Given the description of an element on the screen output the (x, y) to click on. 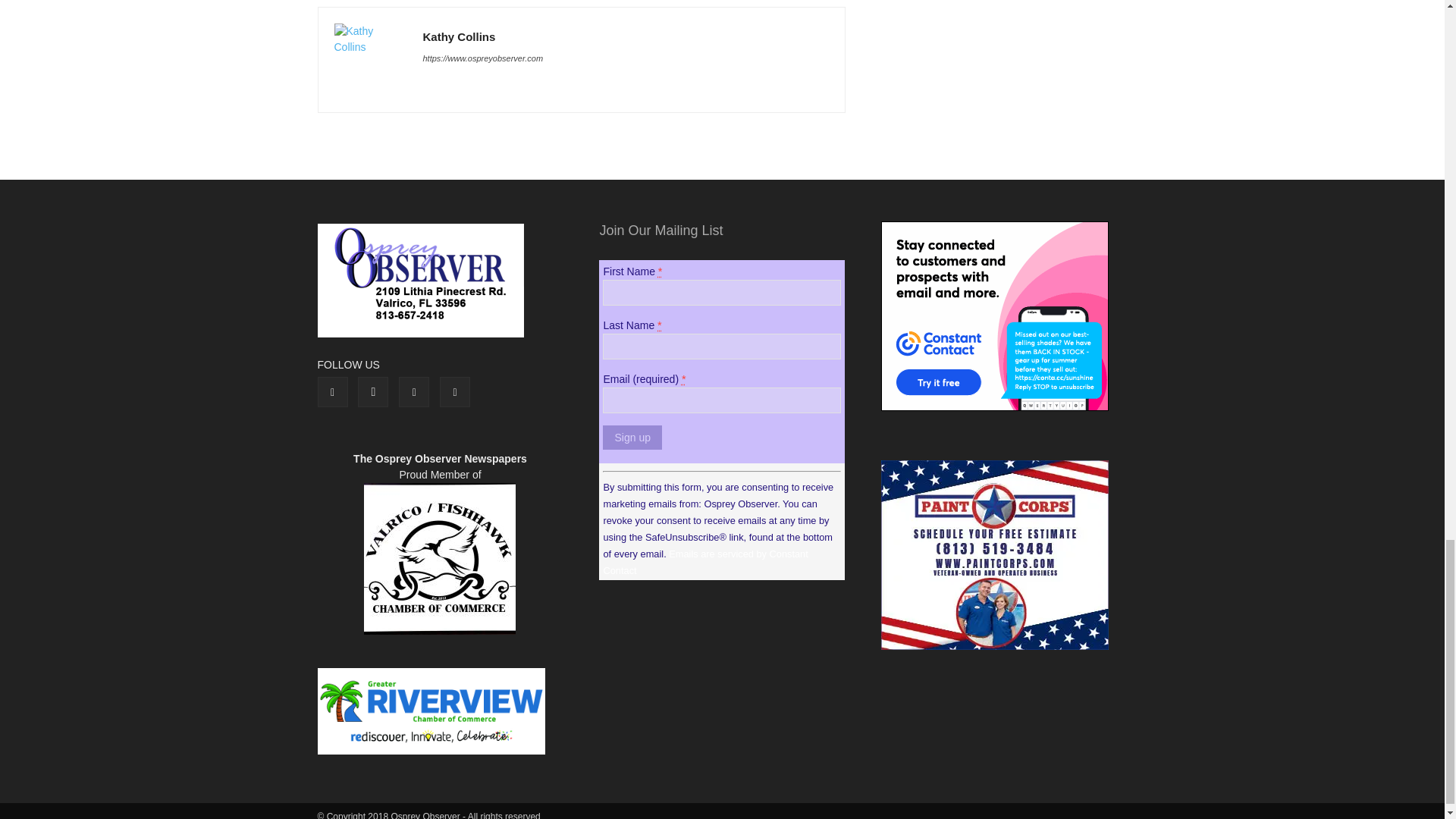
Sign up (631, 437)
